Given the description of an element on the screen output the (x, y) to click on. 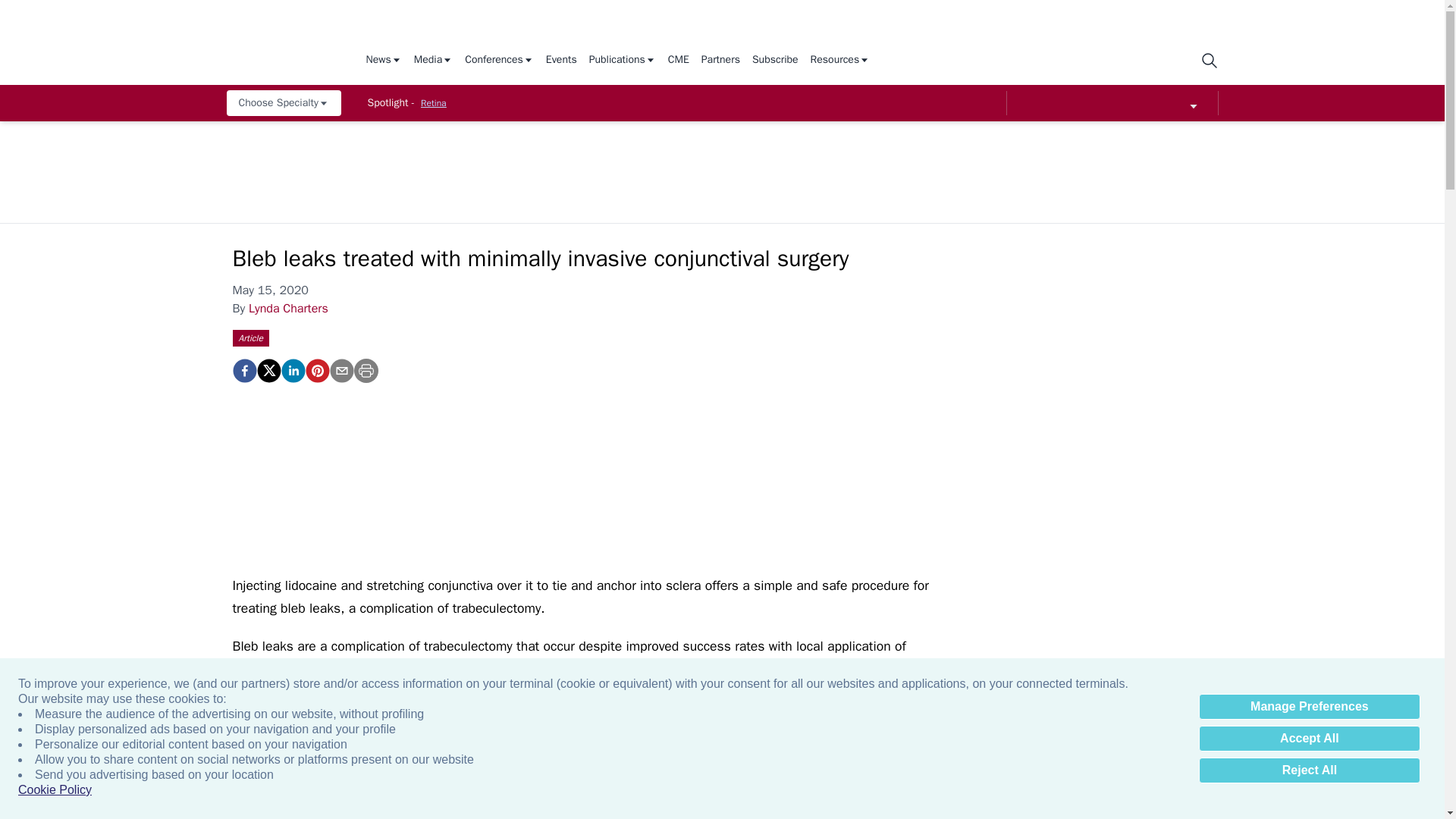
Manage Preferences (1309, 706)
Accept All (1309, 738)
CME (678, 60)
Reject All (1309, 769)
Media (432, 60)
Publications (622, 60)
Cookie Policy (54, 789)
Events (561, 60)
Partners (720, 60)
News (383, 60)
Subscribe (774, 60)
Conferences (499, 60)
Resources (840, 60)
